Given the description of an element on the screen output the (x, y) to click on. 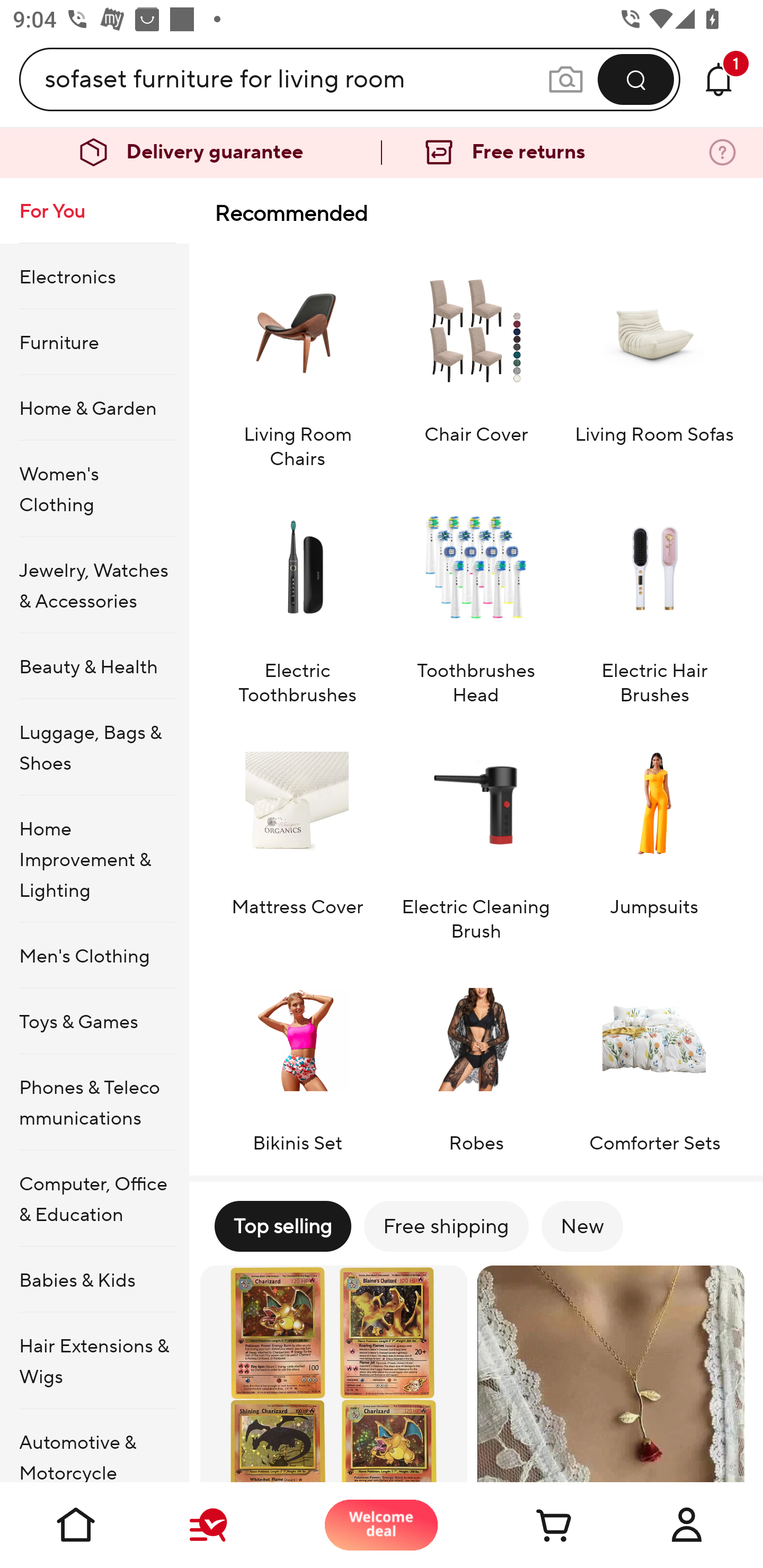
sofaset furniture for living room Search query (295, 79)
Messages 1 (718, 79)
Delivery guarantee Free returns (381, 152)
For You (94, 210)
Recommended (476, 212)
Electronics (94, 275)
Living Room Chairs (296, 359)
Chair Cover (475, 359)
Living Room Sofas (654, 359)
Furniture (94, 341)
Home & Garden (94, 407)
Women's Clothing (94, 488)
Electric Toothbrushes (296, 596)
Toothbrushes Head (475, 596)
Electric Hair Brushes (654, 596)
Jewelry, Watches & Accessories (94, 585)
Beauty & Health (94, 666)
Luggage, Bags & Shoes (94, 746)
Mattress Cover (296, 832)
Electric Cleaning Brush (475, 832)
Jumpsuits (654, 832)
Home Improvement & Lighting (94, 858)
Men's Clothing (94, 955)
Bikinis Set (296, 1056)
Robes (475, 1056)
Comforter Sets (654, 1056)
Toys & Games (94, 1020)
Phones & Telecommunications (94, 1101)
Computer, Office & Education (94, 1198)
Top selling (282, 1226)
Free shipping (445, 1226)
New (582, 1226)
Babies & Kids (94, 1279)
Hair Extensions & Wigs (94, 1360)
Automotive & Motorcycle (94, 1445)
Home (76, 1524)
Cart (533, 1524)
Account (686, 1524)
